Given the description of an element on the screen output the (x, y) to click on. 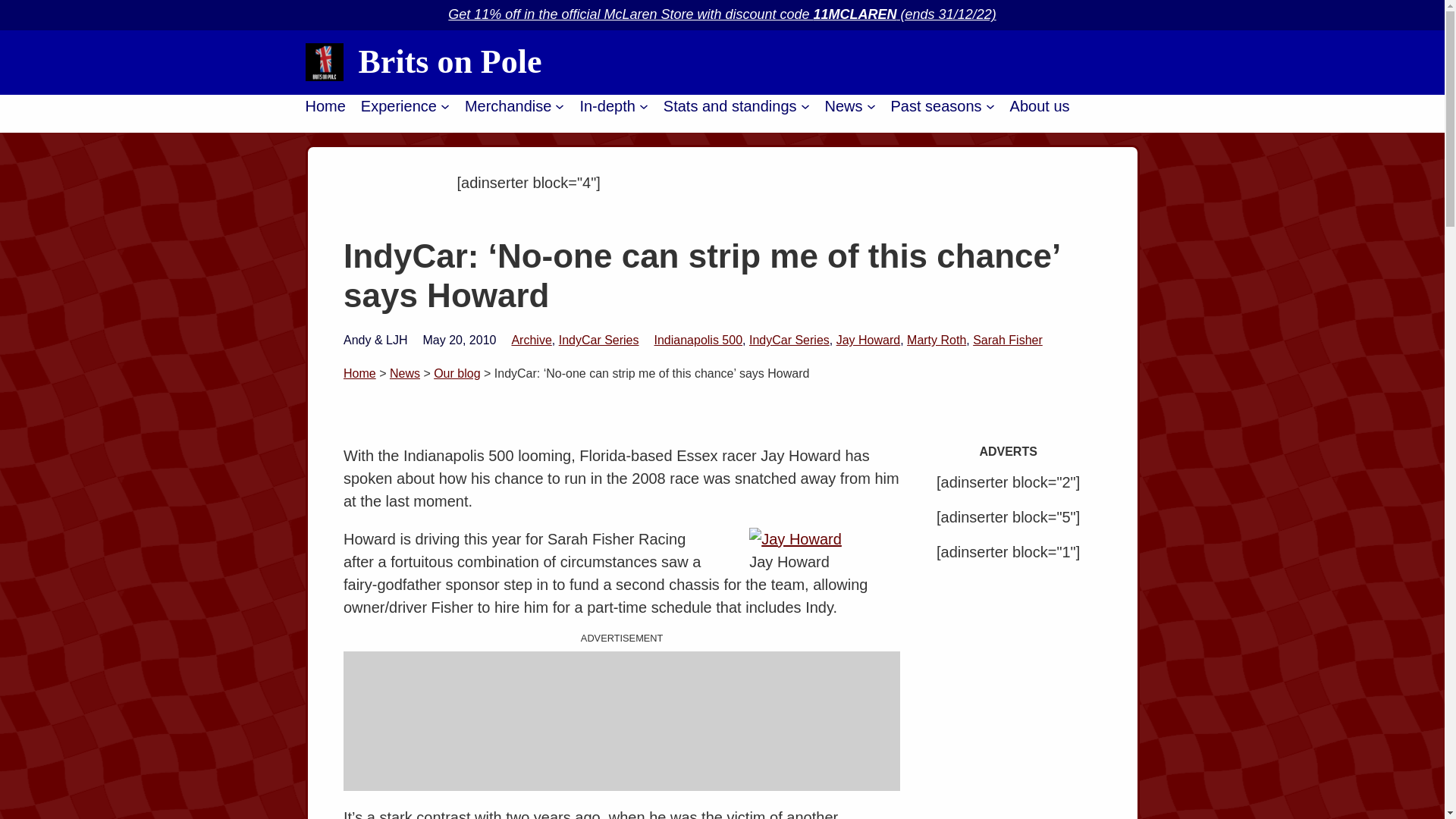
Brits on Pole (449, 61)
Go to Brits on Pole. (359, 373)
In-depth (606, 106)
Experience (398, 106)
Merchandise (507, 106)
Go to Our blog. (456, 373)
Go to News. (405, 373)
Advertisement (621, 721)
Jay Howard (795, 538)
Home (324, 106)
